Given the description of an element on the screen output the (x, y) to click on. 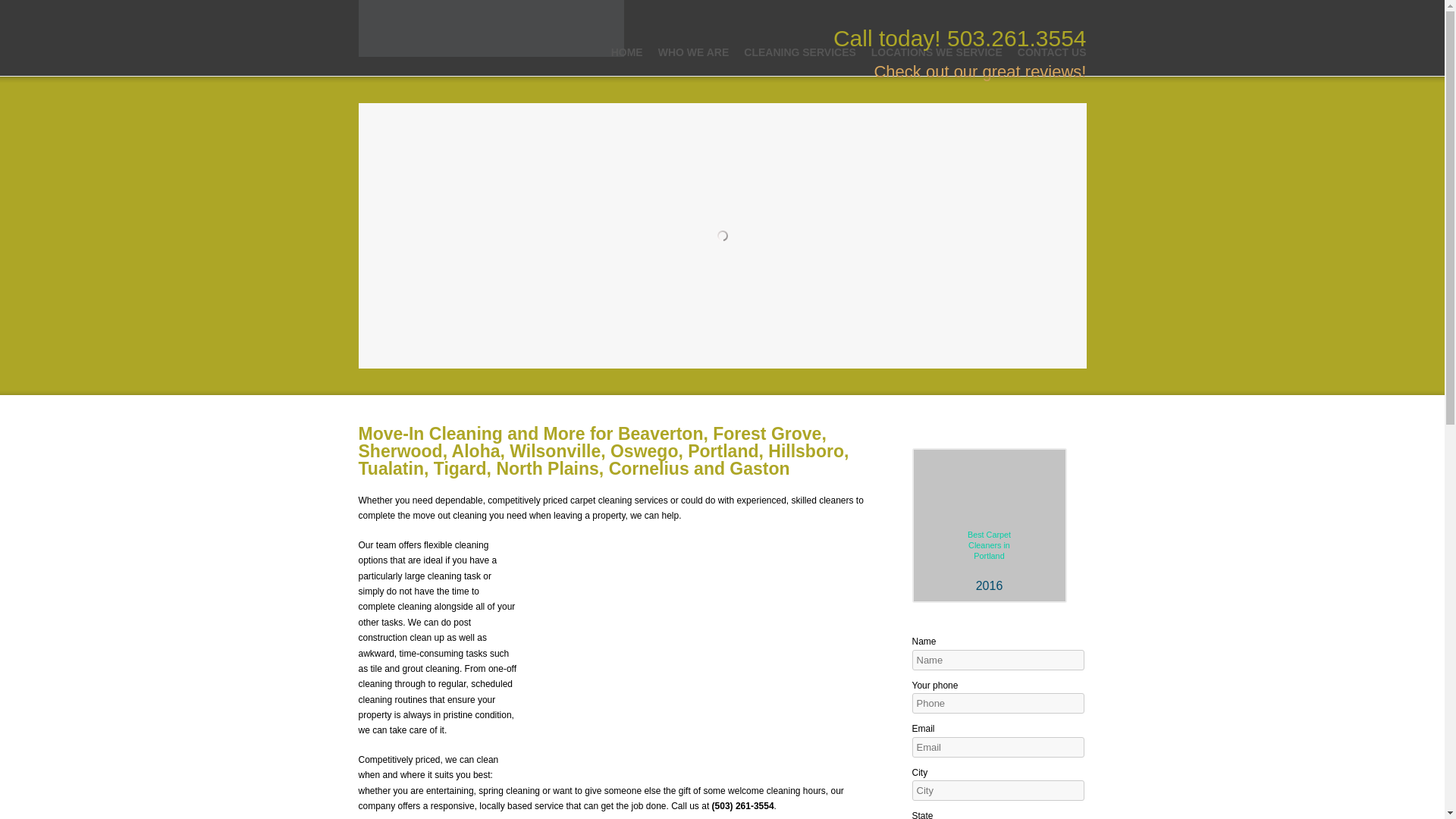
Home (627, 52)
LOCATIONS WE SERVICE (936, 52)
WHO WE ARE (693, 52)
HOME (627, 52)
Praise Cleaning Services (979, 71)
Check out our great reviews! (979, 71)
CLEANING SERVICES (799, 52)
503.261.3554 (1016, 37)
Cleaning Services (799, 52)
